Given the description of an element on the screen output the (x, y) to click on. 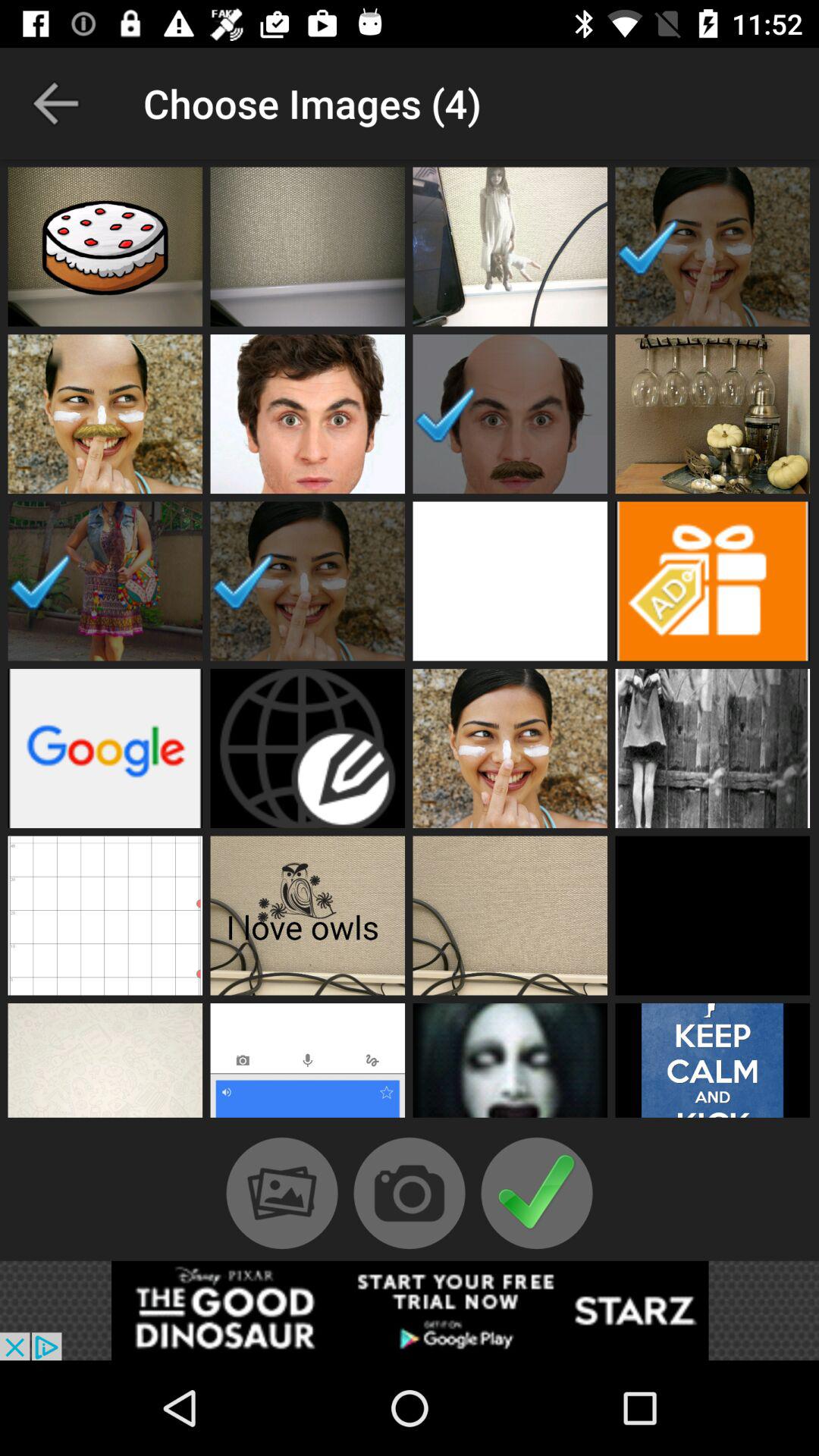
image square (712, 413)
